Given the description of an element on the screen output the (x, y) to click on. 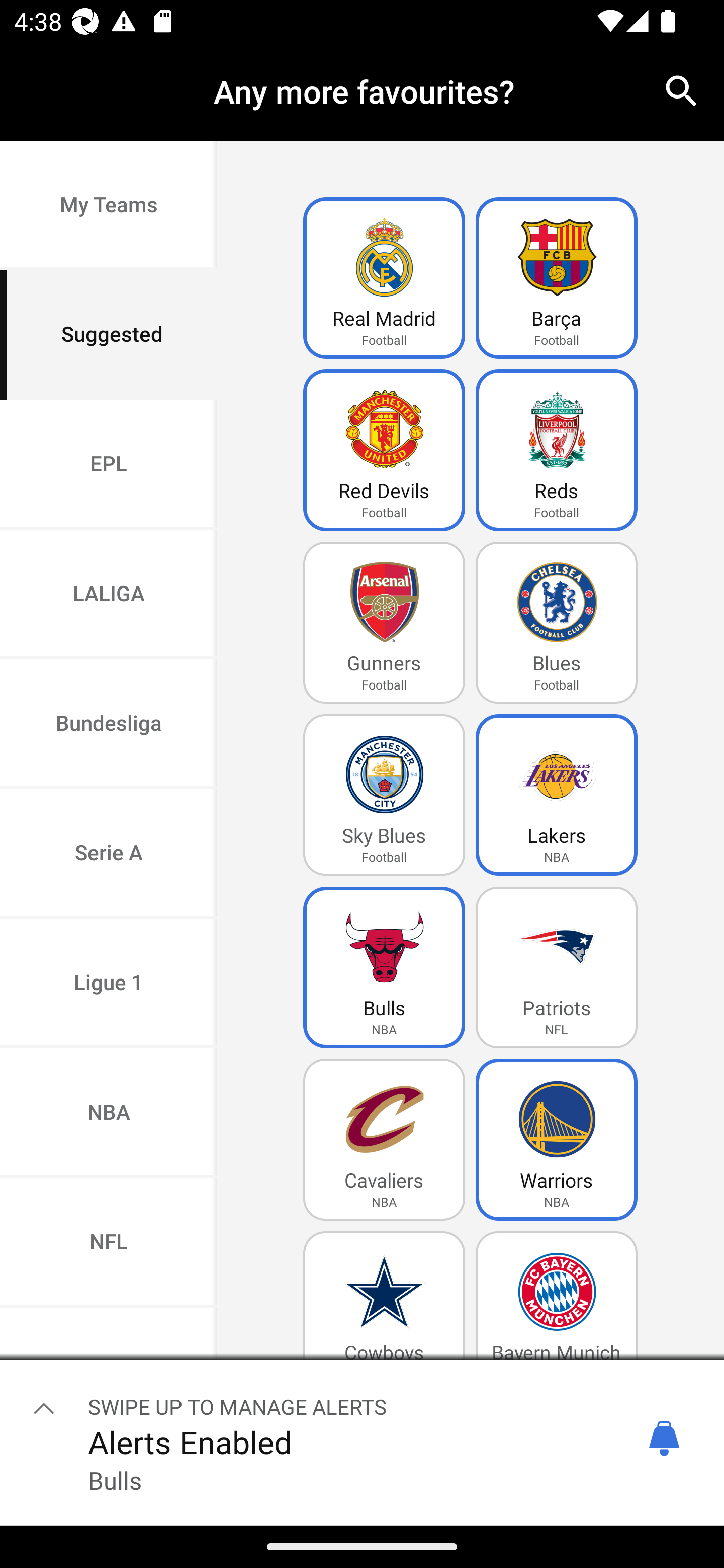
search (681, 90)
My Teams (108, 206)
Real Madrid Real MadridSelected Football (383, 278)
Barça BarçaSelected Football (556, 278)
Suggested (108, 334)
Red Devils Red DevilsSelected Football (383, 450)
Reds RedsSelected Football (556, 450)
EPL (108, 464)
LALIGA (108, 594)
Gunners Gunners Football (383, 623)
Blues Blues Football (556, 623)
Bundesliga (108, 725)
Sky Blues Sky Blues Football (383, 794)
Lakers LakersSelected NBA (556, 794)
Serie A (108, 853)
Bulls BullsSelected NBA (383, 966)
Patriots Patriots NFL (556, 966)
Ligue 1 (108, 983)
NBA (108, 1113)
Cavaliers Cavaliers NBA (383, 1139)
Warriors WarriorsSelected NBA (556, 1139)
NFL (108, 1242)
Cowboys Cowboys NFL (383, 1311)
Bayern Munich Bayern Munich Football (556, 1311)
 SWIPE UP TO MANAGE ALERTS Alerts Enabled ì Bulls (362, 1439)
 (44, 1407)
